Given the description of an element on the screen output the (x, y) to click on. 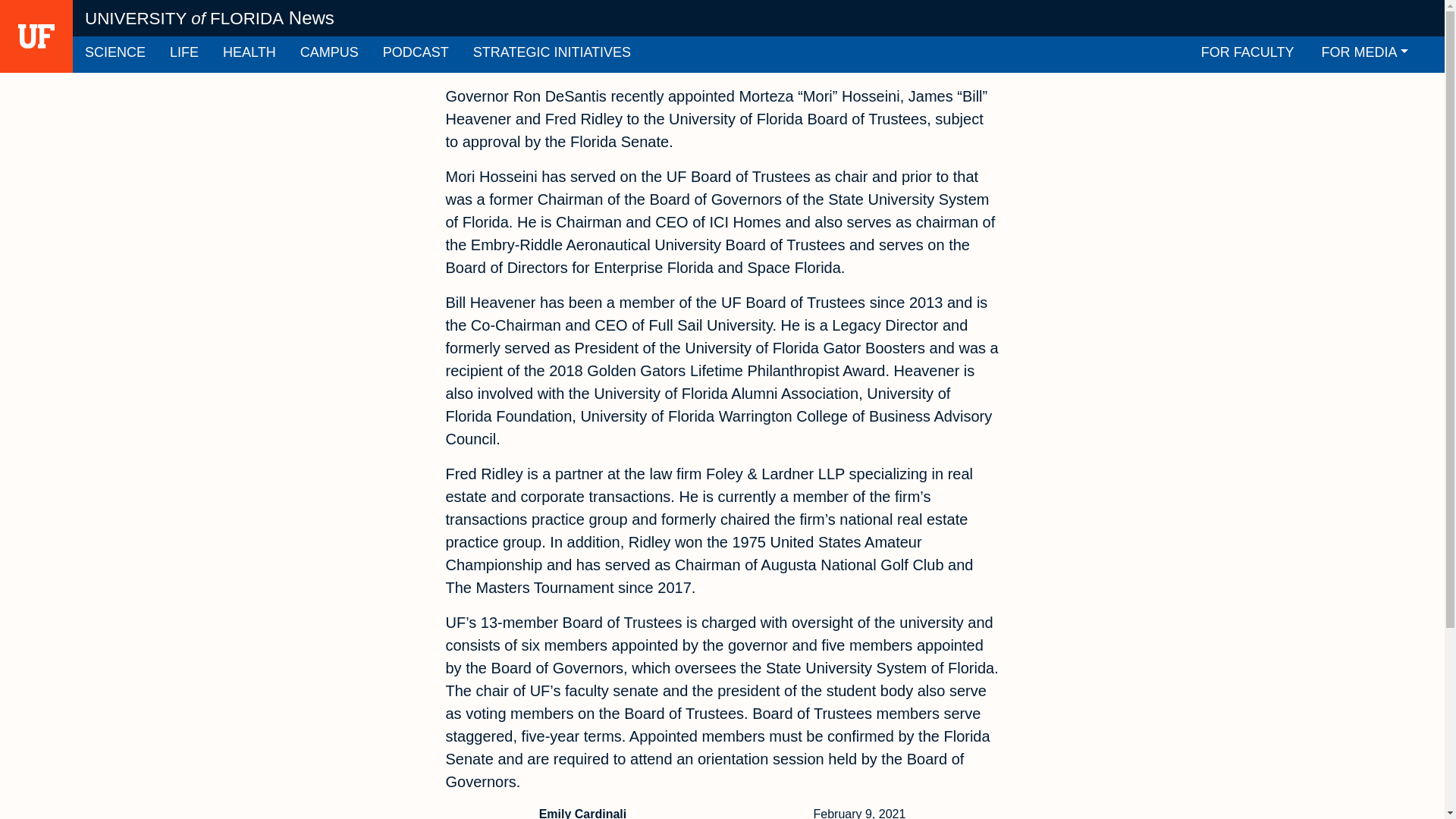
SCIENCE (114, 54)
CAMPUS (329, 54)
UNIVERSITY of FLORIDA News (209, 18)
LIFE (184, 54)
HEALTH (249, 54)
STRATEGIC INITIATIVES (552, 54)
FOR FACULTY (1247, 54)
PODCAST (416, 54)
FOR MEDIA (1364, 54)
